Given the description of an element on the screen output the (x, y) to click on. 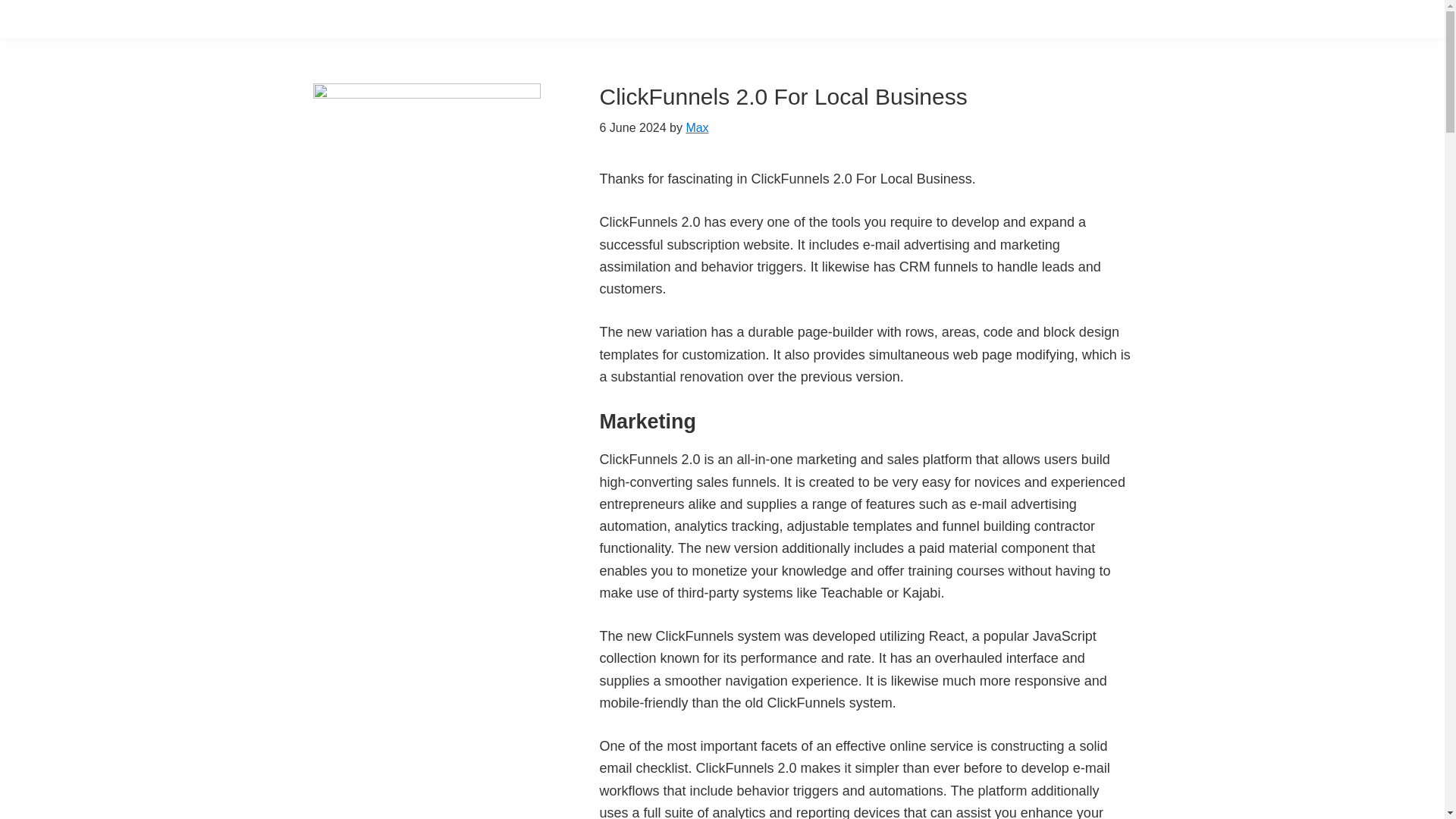
Max (696, 127)
